Given the description of an element on the screen output the (x, y) to click on. 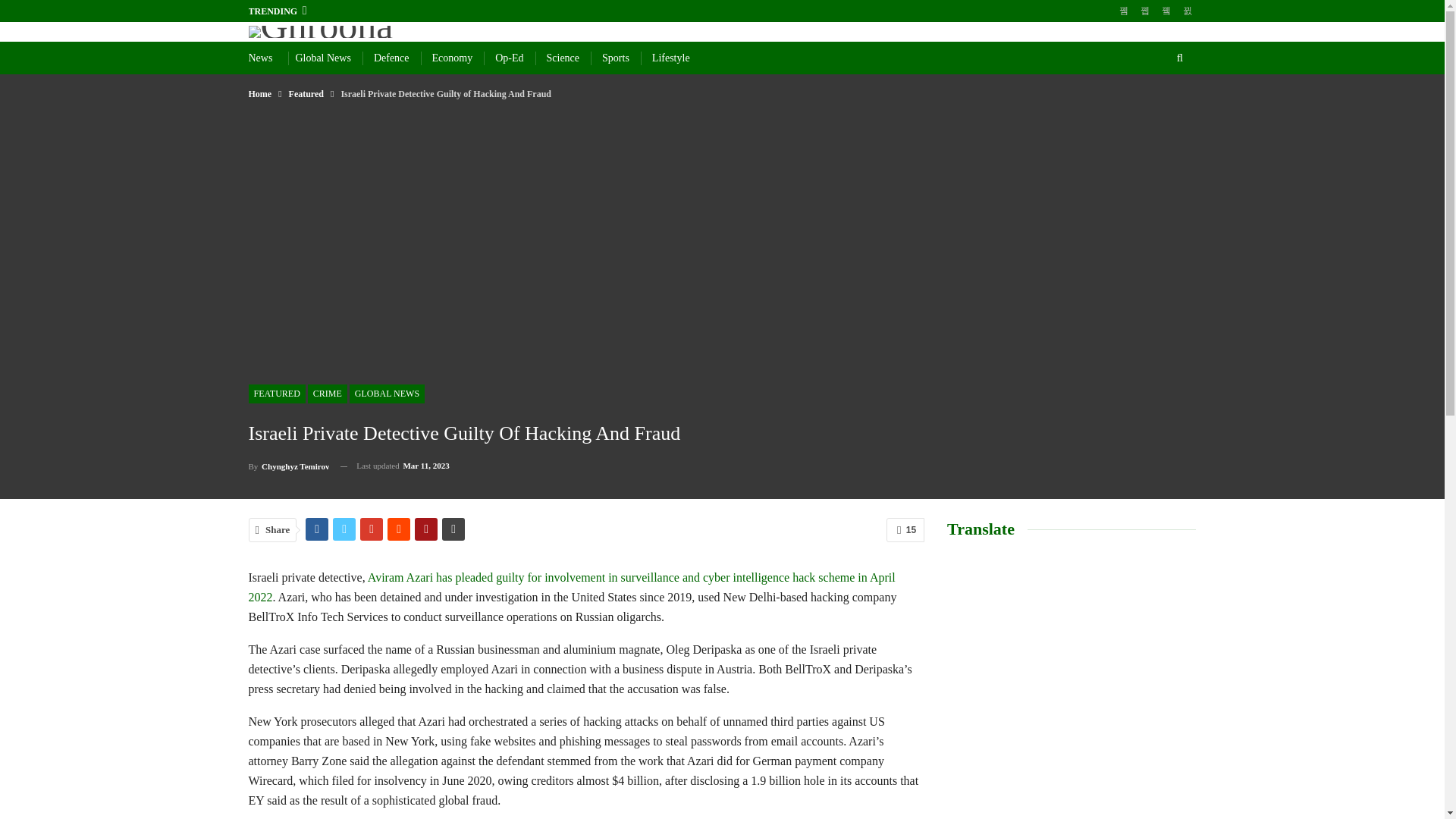
Global News (322, 57)
Browse Author Articles (289, 465)
